Given the description of an element on the screen output the (x, y) to click on. 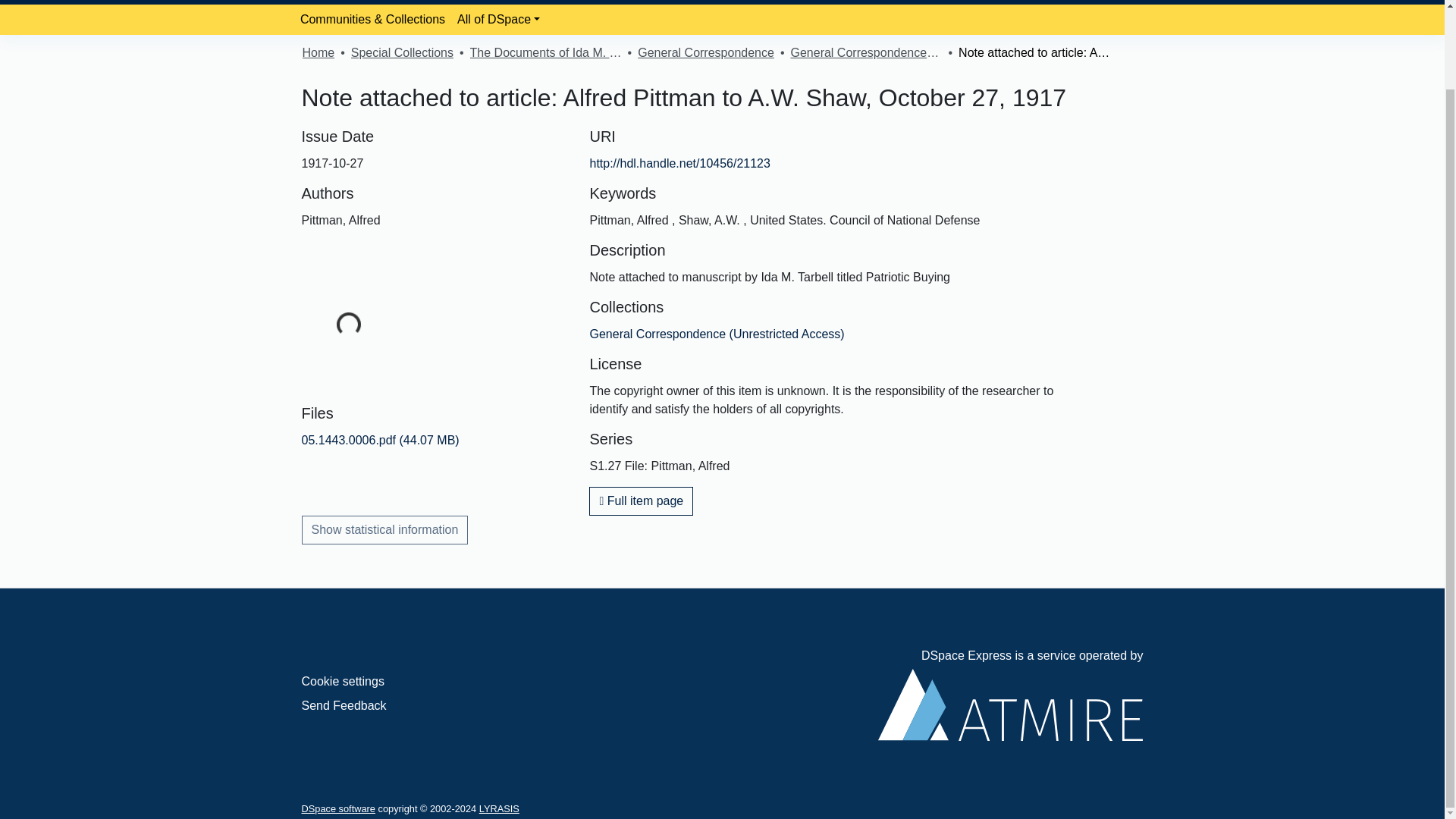
DSpace Express is a service operated by (1009, 695)
The Documents of Ida M. Tarbell (545, 53)
General Correspondence (705, 53)
Full item page (641, 500)
Send Feedback (344, 705)
Special Collections (401, 53)
Home (317, 53)
Show statistical information (384, 529)
LYRASIS (499, 808)
All of DSpace (498, 19)
Cookie settings (342, 680)
DSpace software (338, 808)
